Given the description of an element on the screen output the (x, y) to click on. 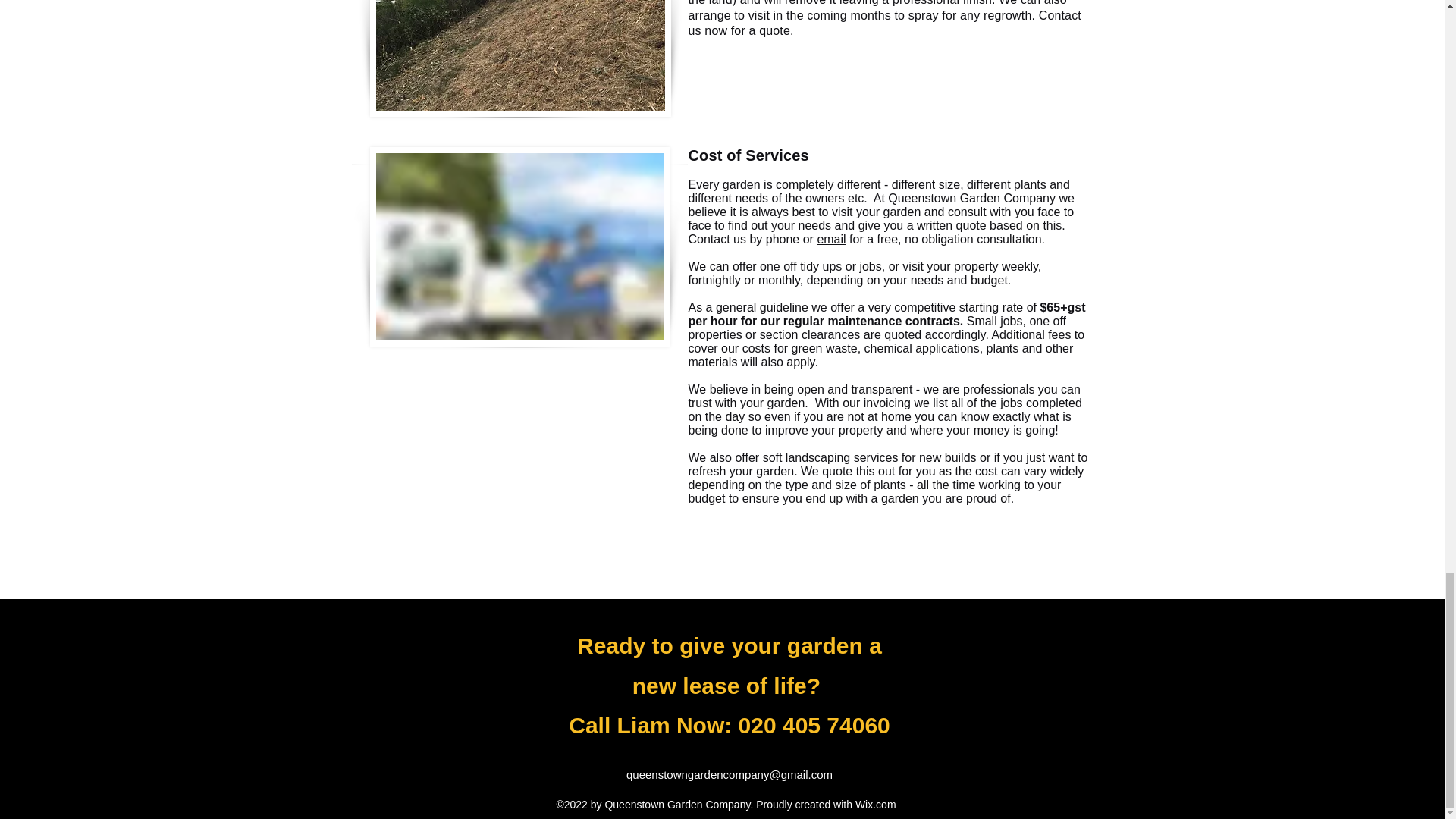
email (830, 238)
